Given the description of an element on the screen output the (x, y) to click on. 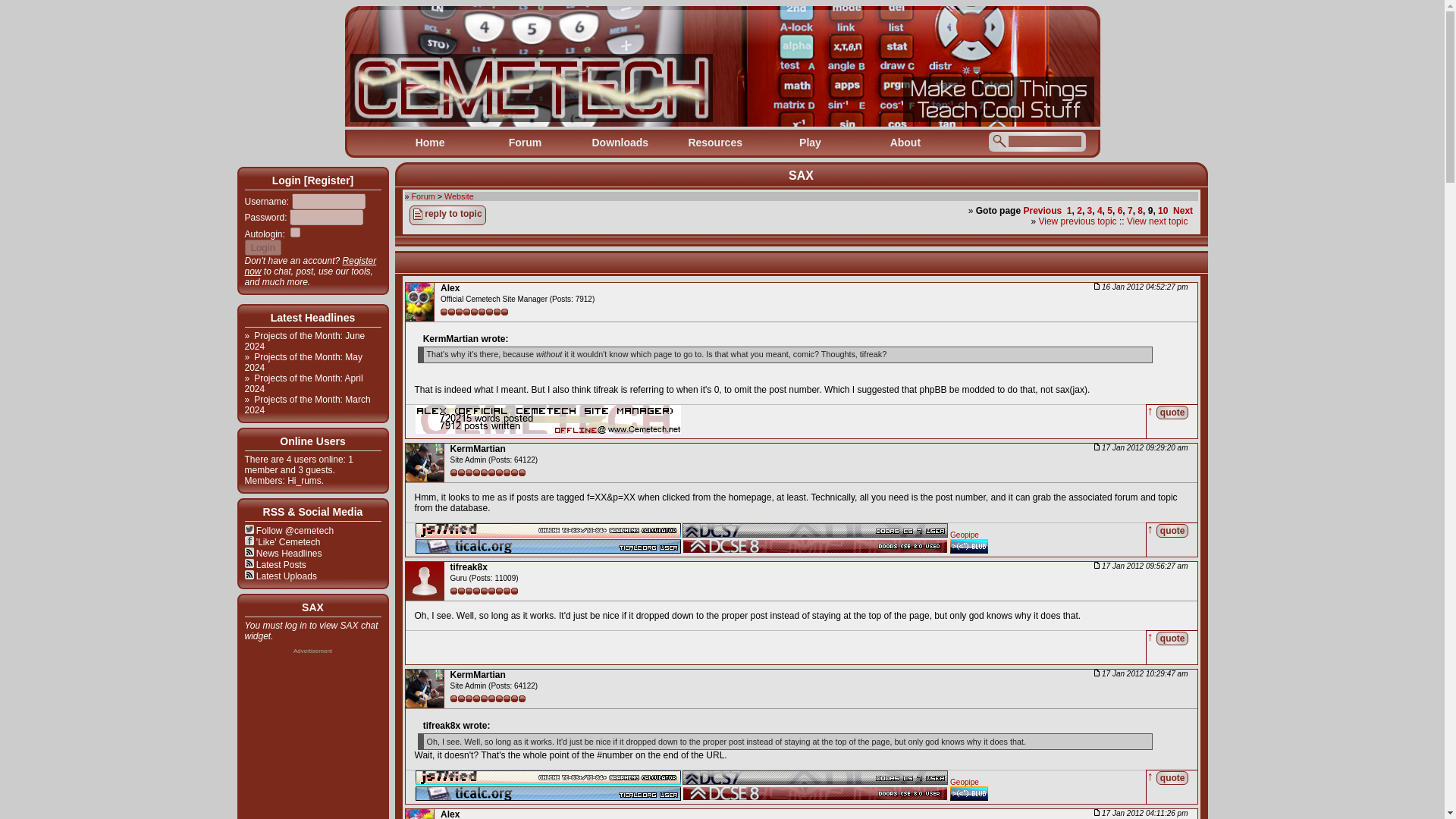
KermMartian (477, 448)
Forum (524, 142)
Downloads (620, 142)
reply to topic (447, 214)
Forum (423, 195)
Resources (714, 142)
Register (328, 180)
View next topic (1157, 221)
Play (810, 142)
10 (1162, 210)
on (294, 232)
16 Jan 2012 04:52:27 pm (1141, 286)
Login (262, 247)
Website (459, 195)
Login (262, 247)
